Given the description of an element on the screen output the (x, y) to click on. 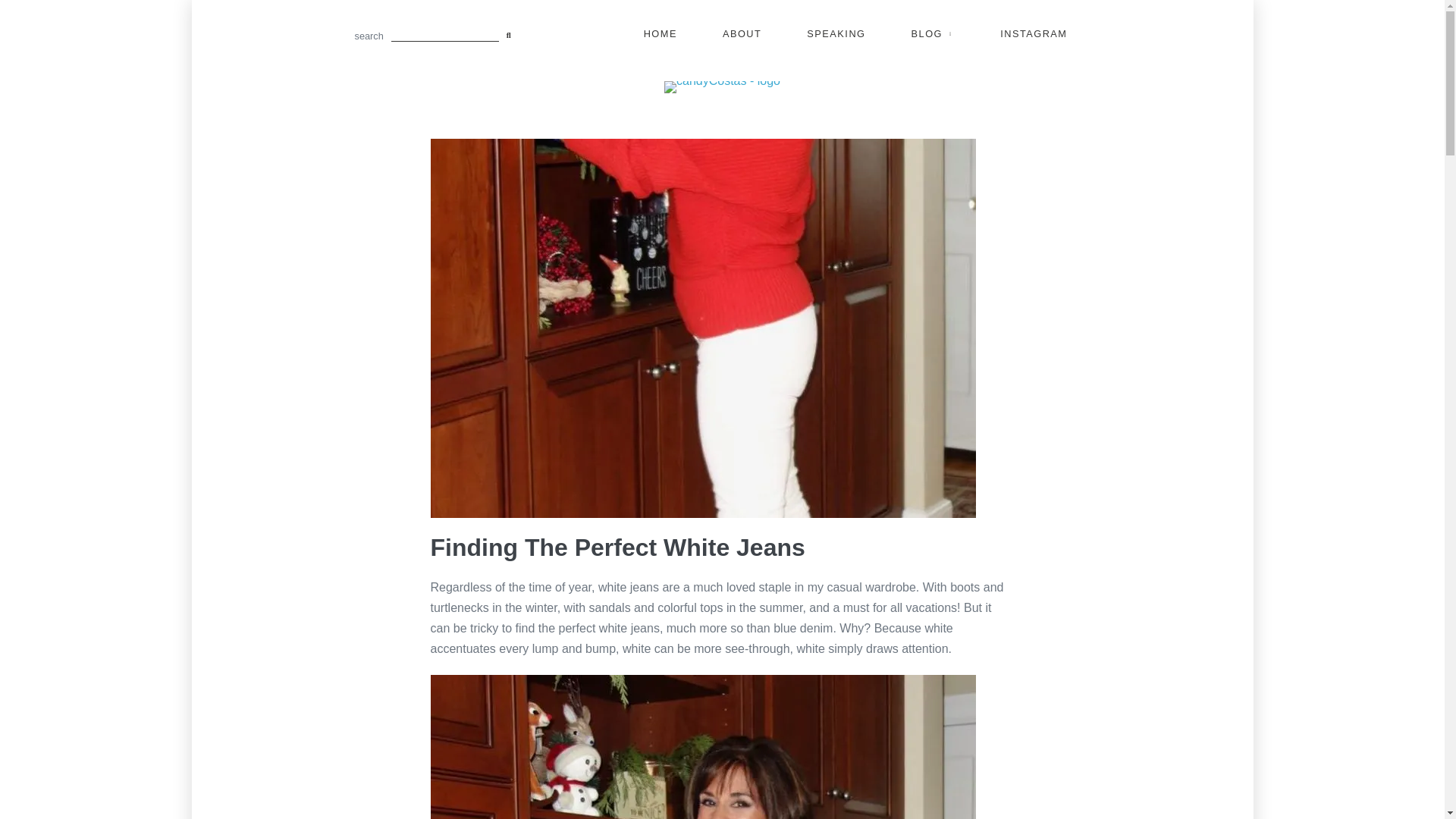
INSTAGRAM (1033, 34)
HOME (660, 34)
BLOG (933, 34)
SPEAKING (835, 34)
candyCostas - logo (721, 87)
instagram-icon (1033, 34)
ABOUT (741, 34)
